Given the description of an element on the screen output the (x, y) to click on. 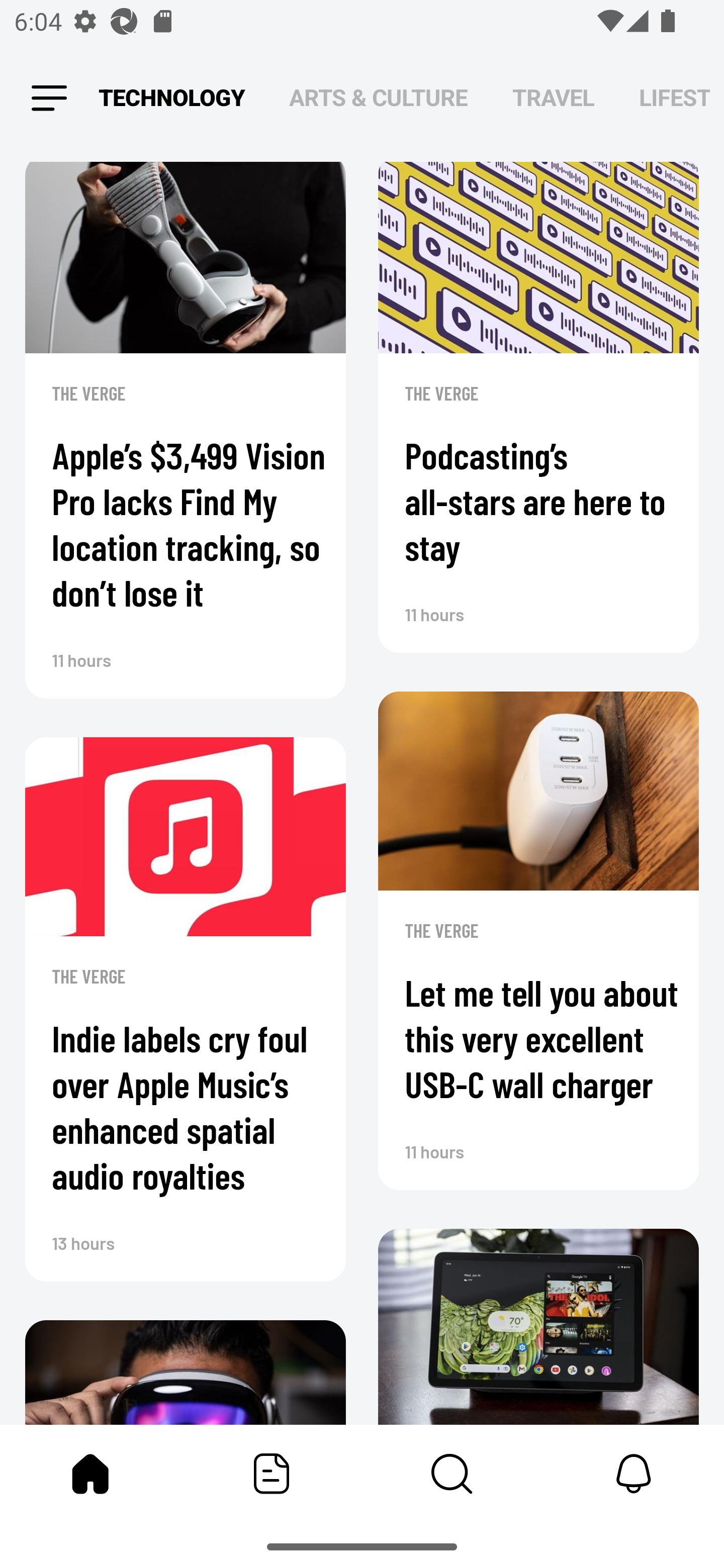
Leading Icon (49, 98)
ARTS & CULTURE (378, 97)
TRAVEL (553, 97)
LIFESTYLE (674, 97)
Featured (271, 1473)
Content Store (452, 1473)
Notifications (633, 1473)
